Given the description of an element on the screen output the (x, y) to click on. 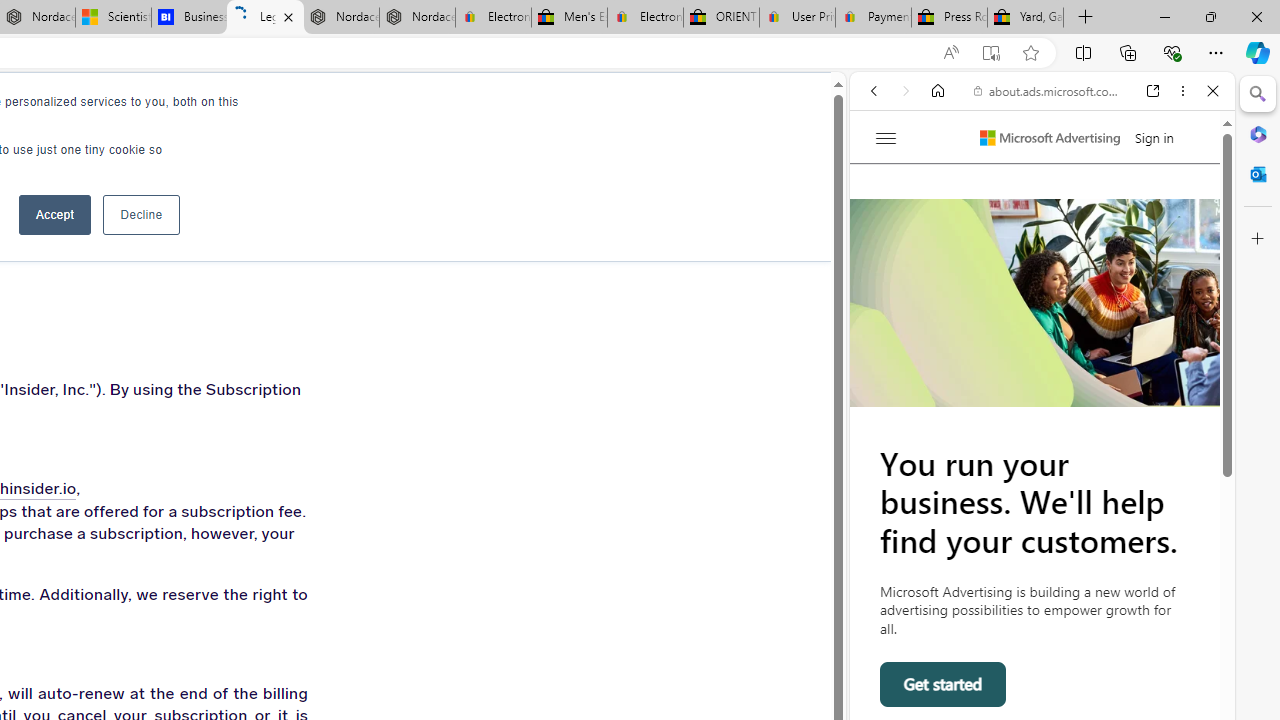
Microsoft Advertising (1050, 137)
